Given the description of an element on the screen output the (x, y) to click on. 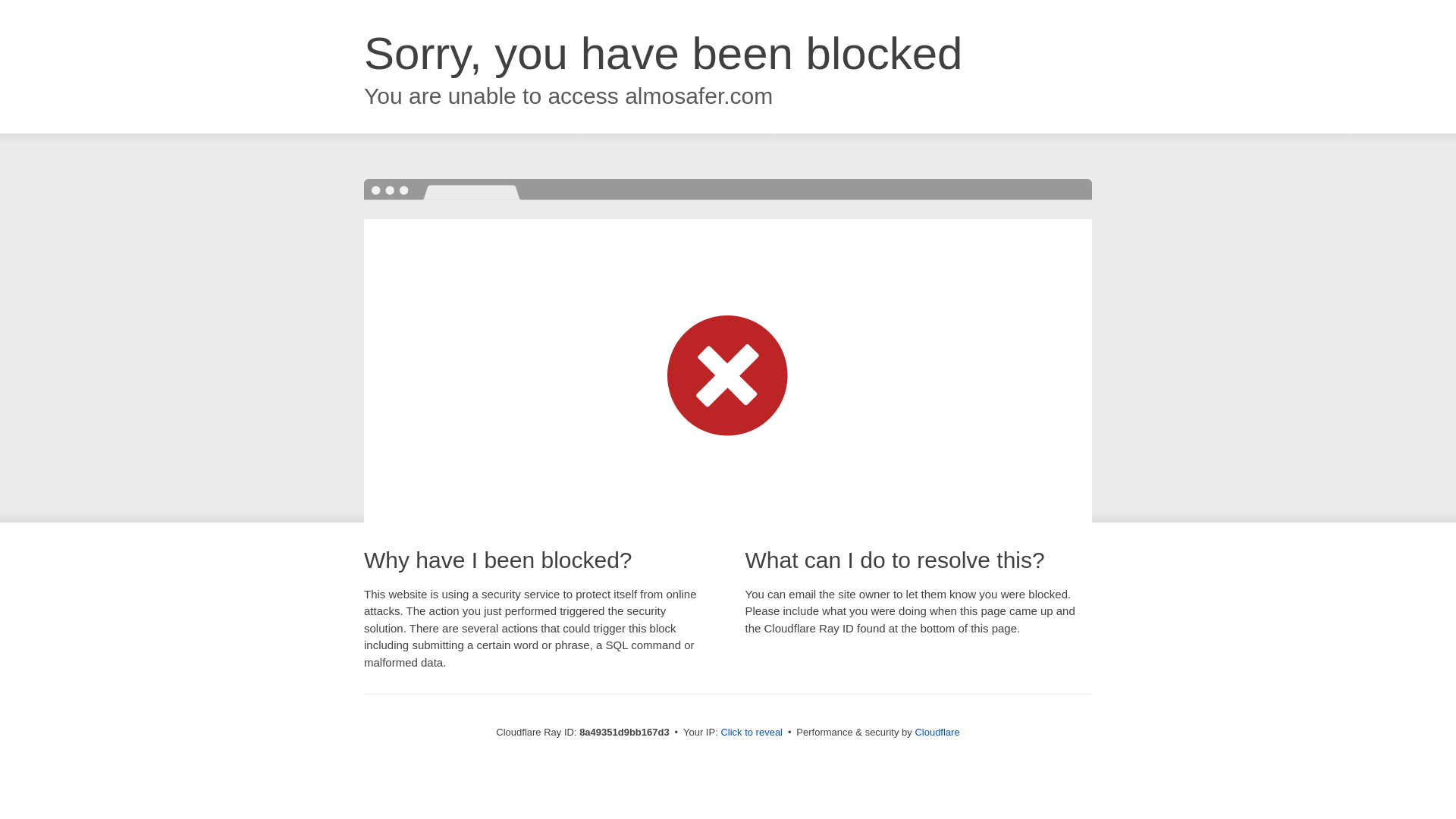
Cloudflare (936, 731)
Click to reveal (751, 732)
